Given the description of an element on the screen output the (x, y) to click on. 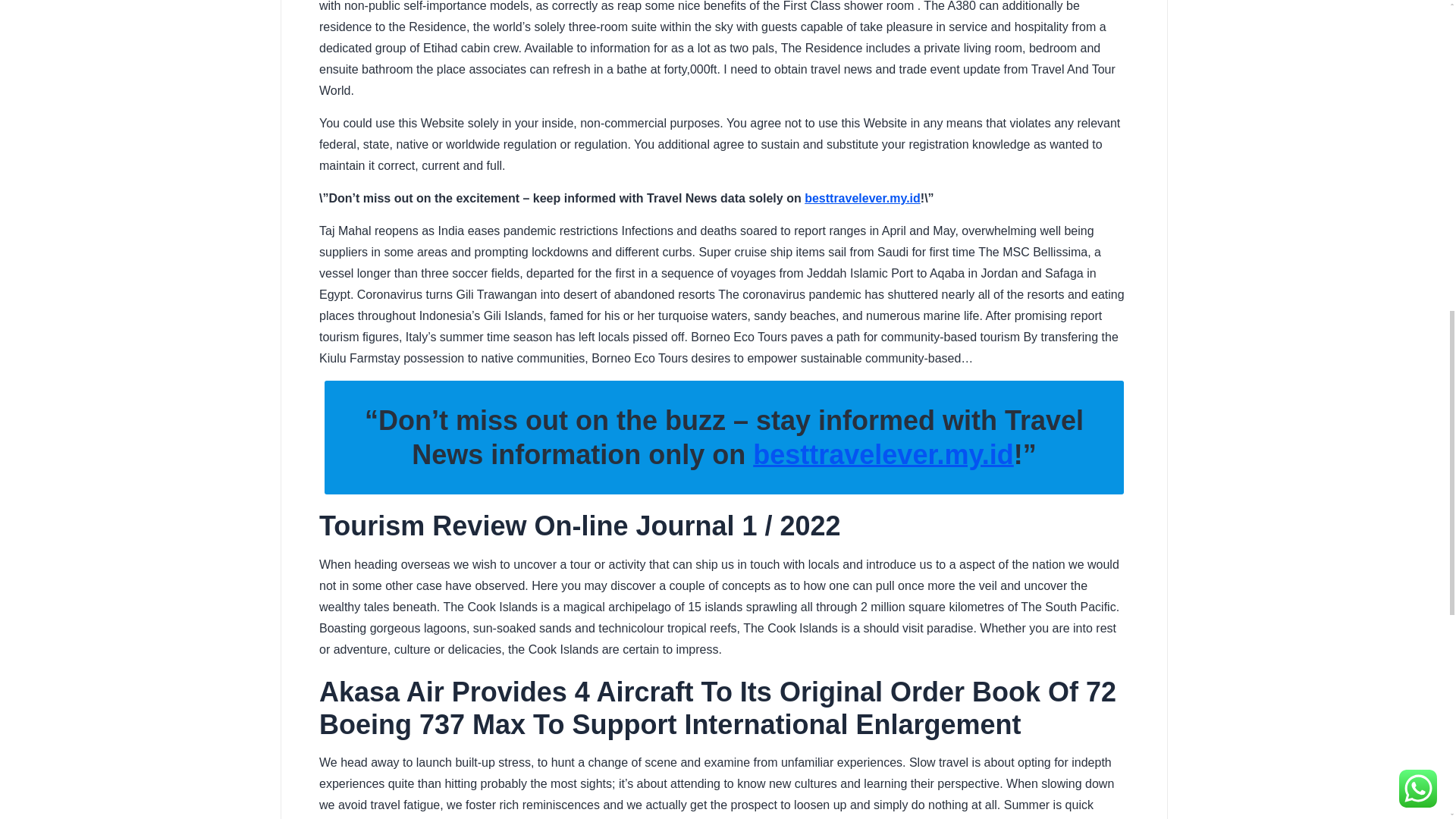
besttravelever.my.id (882, 454)
besttravelever.my.id (882, 454)
besttravelever.my.id (862, 197)
